Given the description of an element on the screen output the (x, y) to click on. 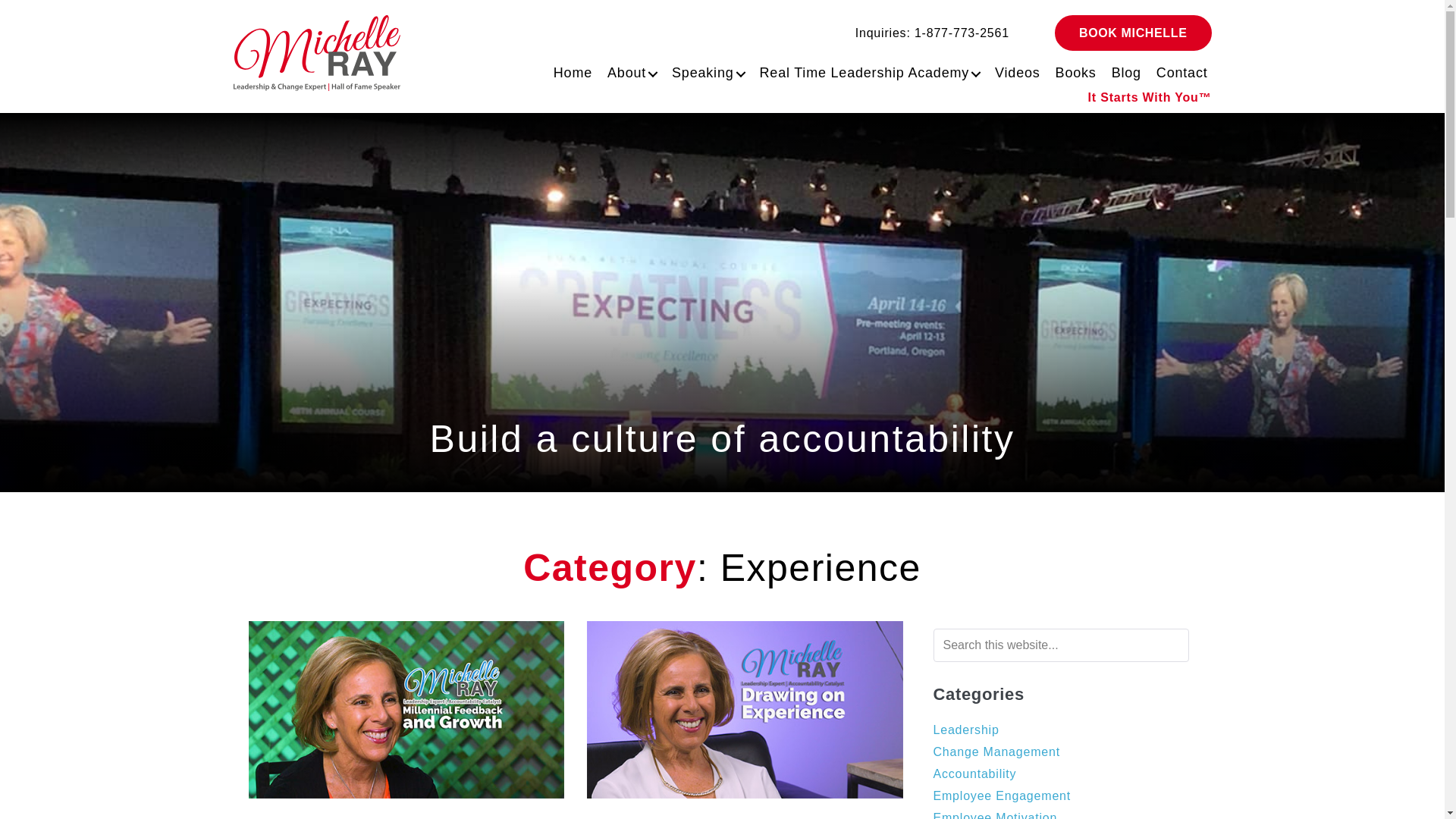
BOOK MICHELLE (1132, 32)
Videos (1013, 70)
Speaking (704, 70)
Books (1072, 70)
Leading Change while Drawing on Experience (744, 708)
Real Time Leadership Academy (866, 70)
Home (569, 70)
